Given the description of an element on the screen output the (x, y) to click on. 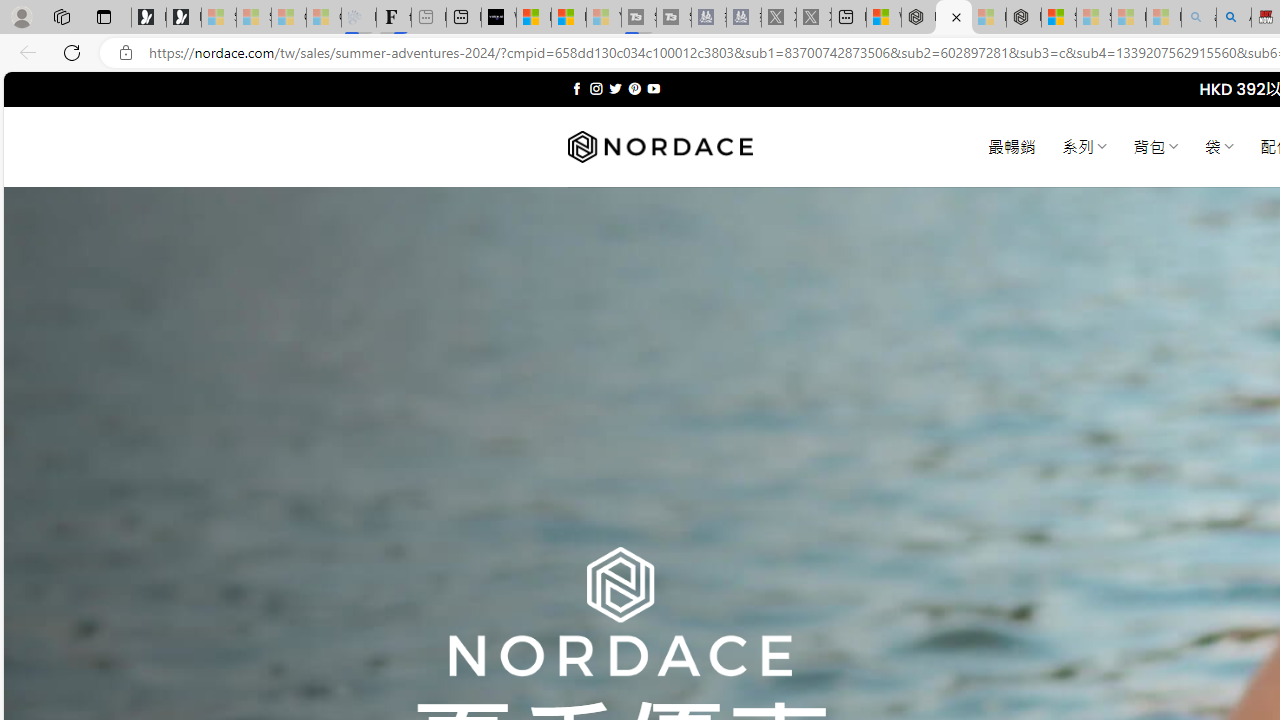
Follow on Instagram (596, 88)
Wildlife - MSN (883, 17)
Follow on Pinterest (634, 88)
What's the best AI voice generator? - voice.ai (498, 17)
Follow on Facebook (576, 88)
